Given the description of an element on the screen output the (x, y) to click on. 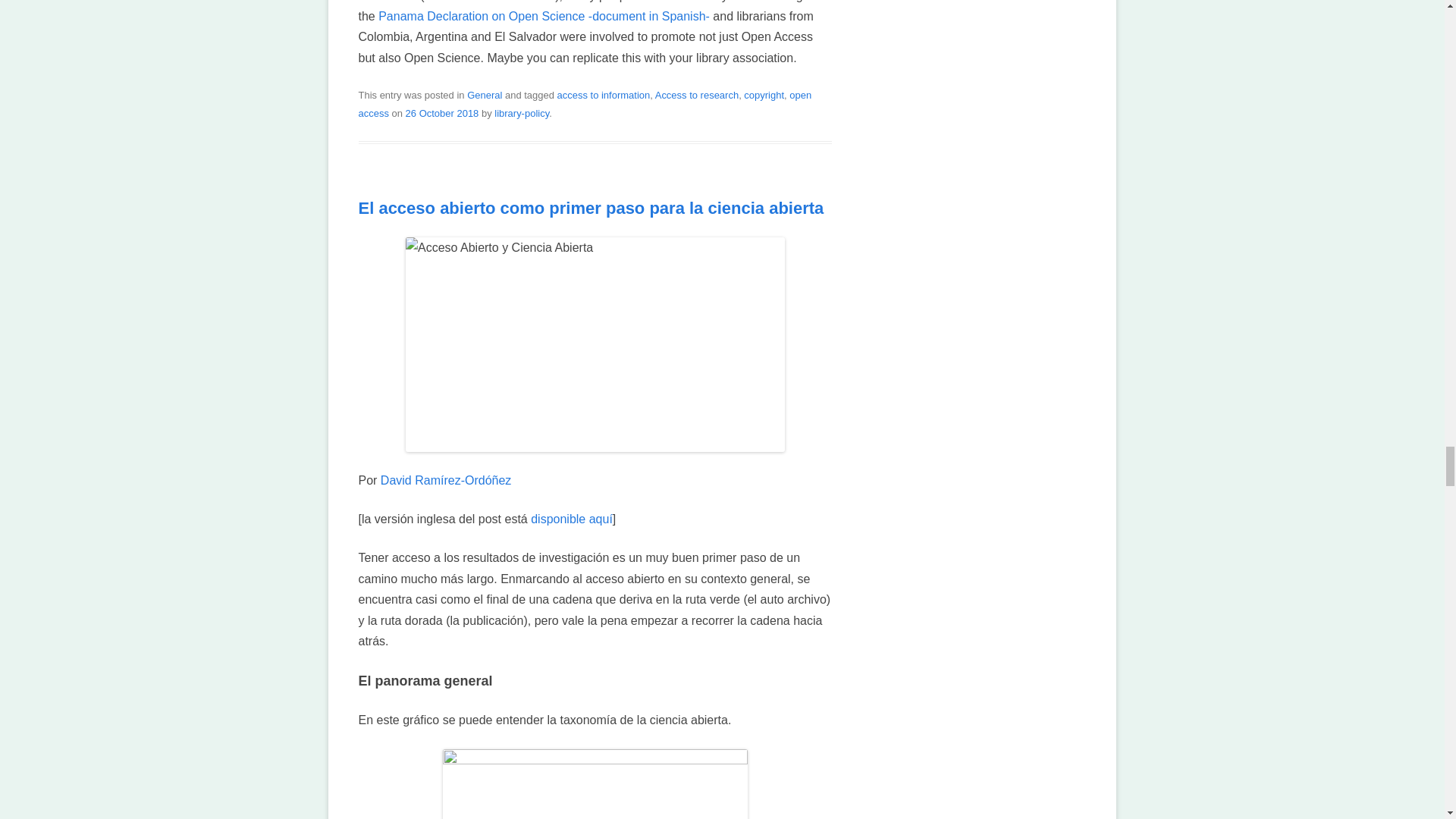
12:34 (442, 112)
View all posts by library-policy (521, 112)
